Given the description of an element on the screen output the (x, y) to click on. 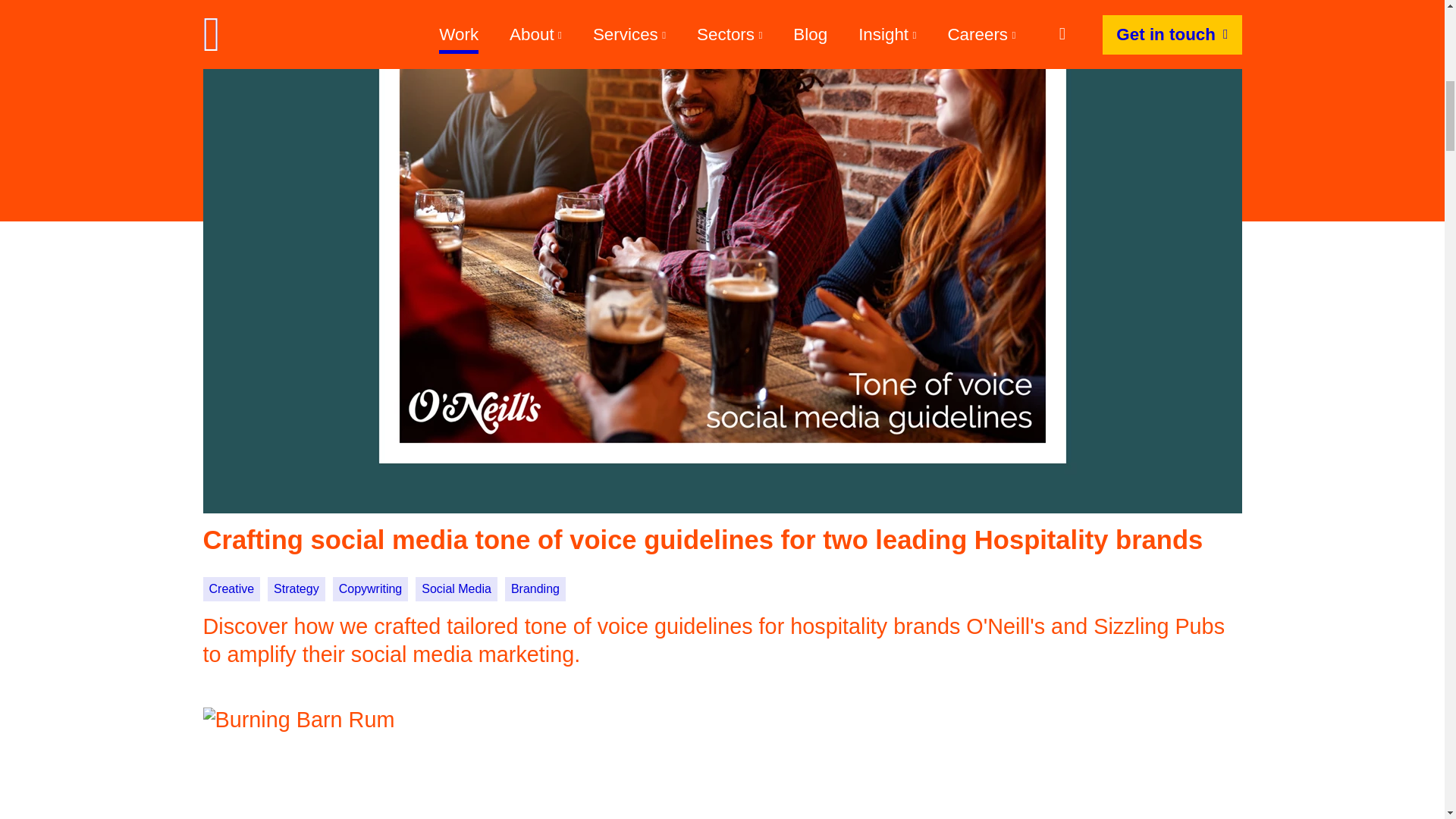
Copywriting (371, 589)
Social Media (455, 589)
Strategy (295, 589)
Creative (231, 589)
Branding (535, 589)
